Given the description of an element on the screen output the (x, y) to click on. 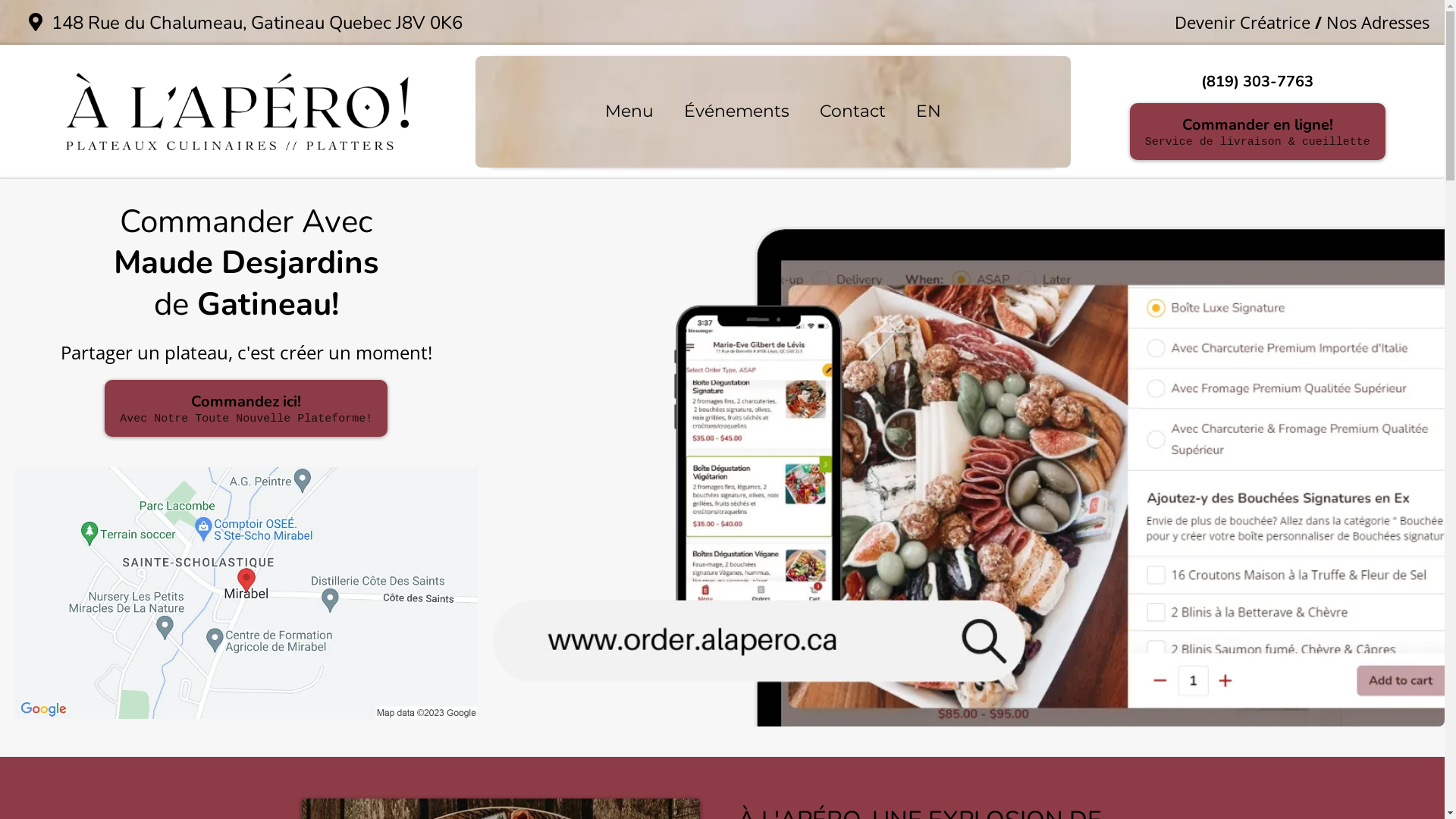
148 Rue du Chalumeau, Gatineau Quebec J8V 0K6 Element type: text (256, 22)
Nos Adresses Element type: text (1377, 21)
EN Element type: text (928, 111)
Menu Element type: text (628, 111)
Commandez ici!
Avec Notre Toute Nouvelle Plateforme! Element type: text (245, 407)
(819) 303-7763 Element type: text (1257, 81)
Contact Element type: text (852, 111)
Commander en ligne!
Service de livraison & cueillette Element type: text (1257, 131)
